Given the description of an element on the screen output the (x, y) to click on. 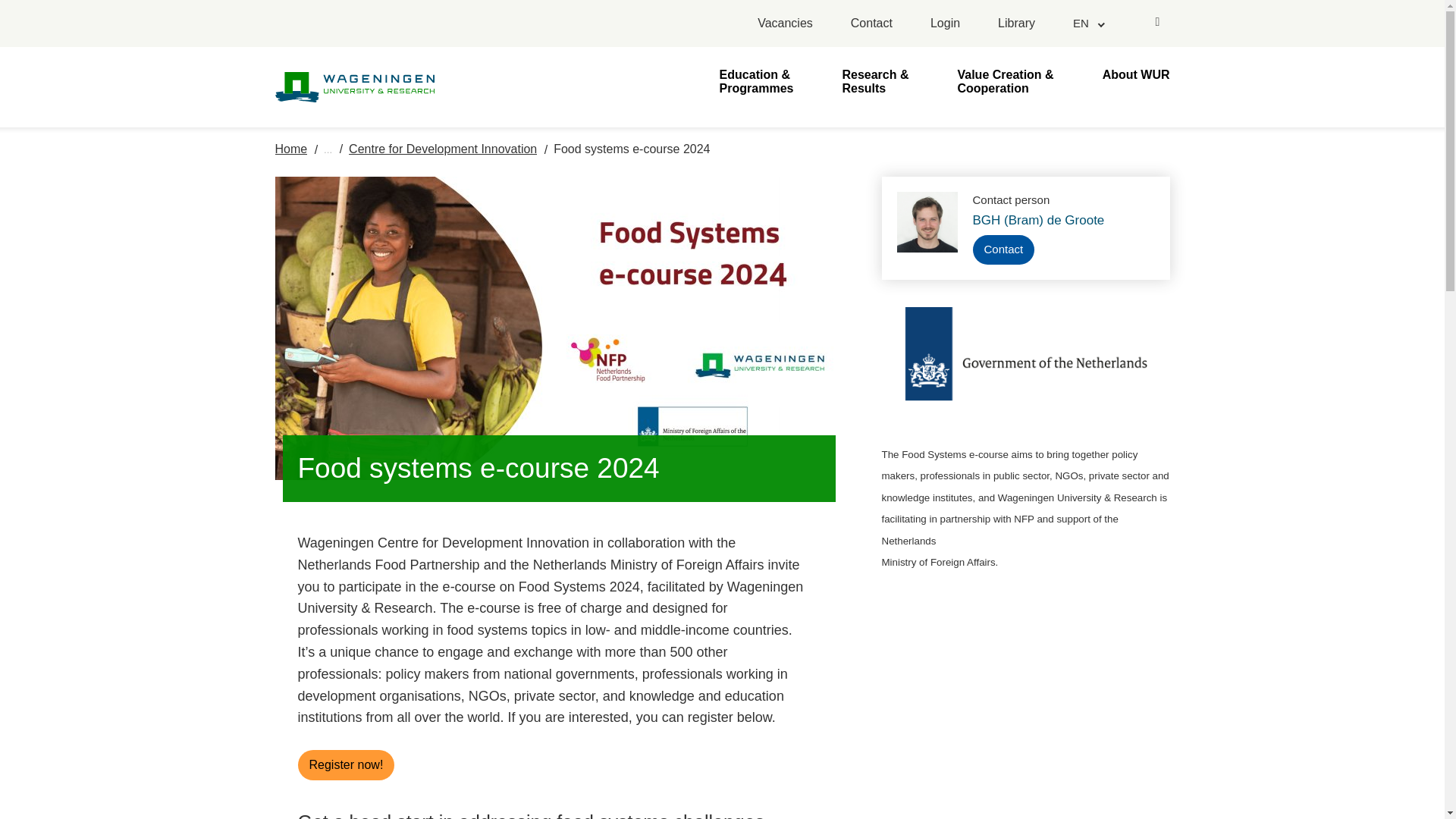
download.png (1024, 366)
Contact (1002, 249)
Contact (870, 23)
Vacancies (784, 23)
Contact (870, 23)
Vacancies (784, 23)
EN (1086, 23)
Library (1016, 23)
Centre for Development Innovation (443, 149)
Login (944, 23)
